Given the description of an element on the screen output the (x, y) to click on. 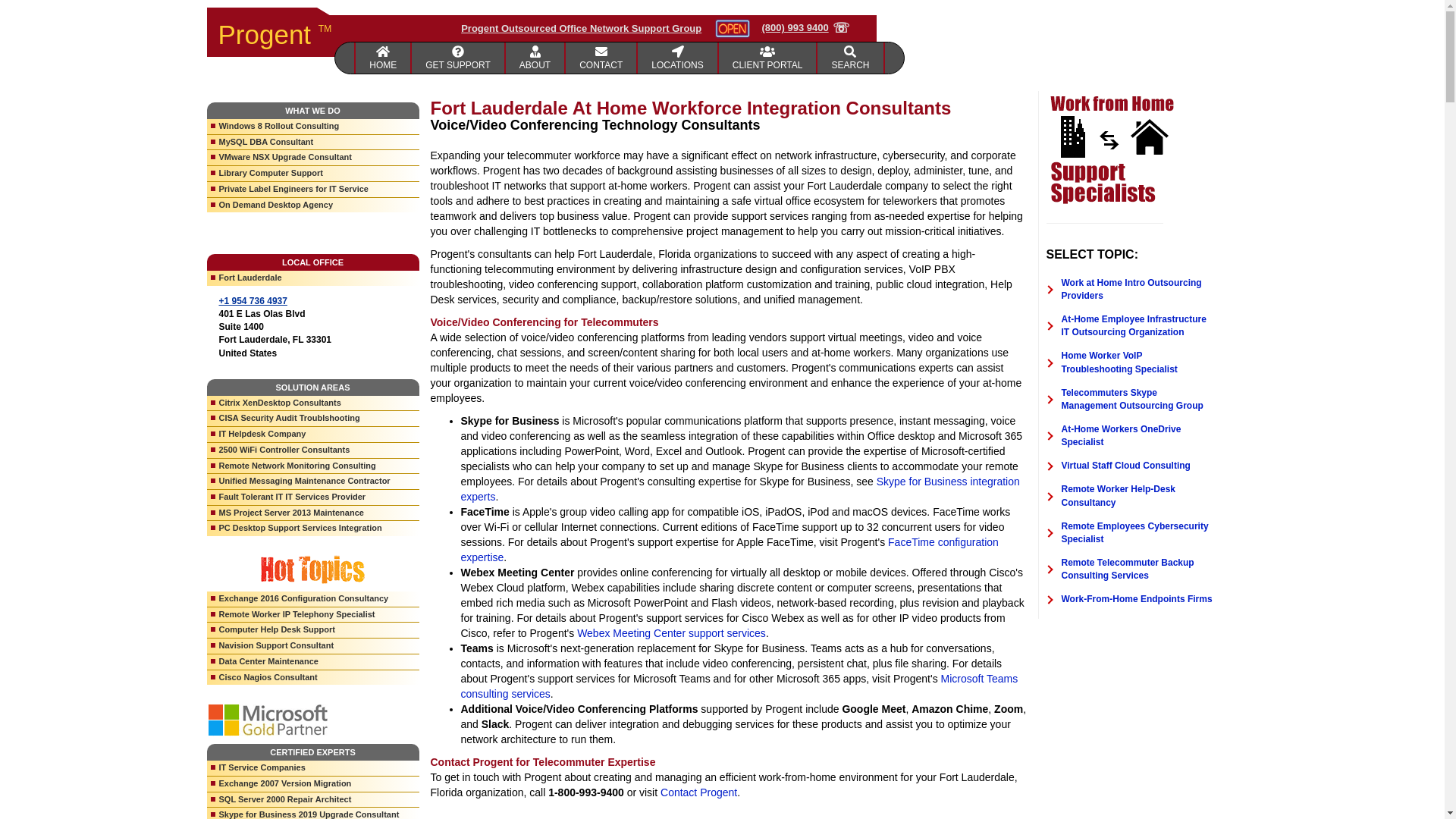
Microsoft Teams Integration Consultants (739, 686)
Progent Phone Numbers (677, 57)
Progent Start-Up Company Outsourcing Technical Support (458, 57)
Cisco Webex Meeting Center Consultants (670, 633)
Contact Progent (698, 792)
Small Business Small Business Network Consulting Company (535, 57)
Call for Support (804, 28)
Progent Phone Numbers (601, 57)
Skype for Business Consulting Services (740, 488)
FaceTime Consultants (729, 549)
